Given the description of an element on the screen output the (x, y) to click on. 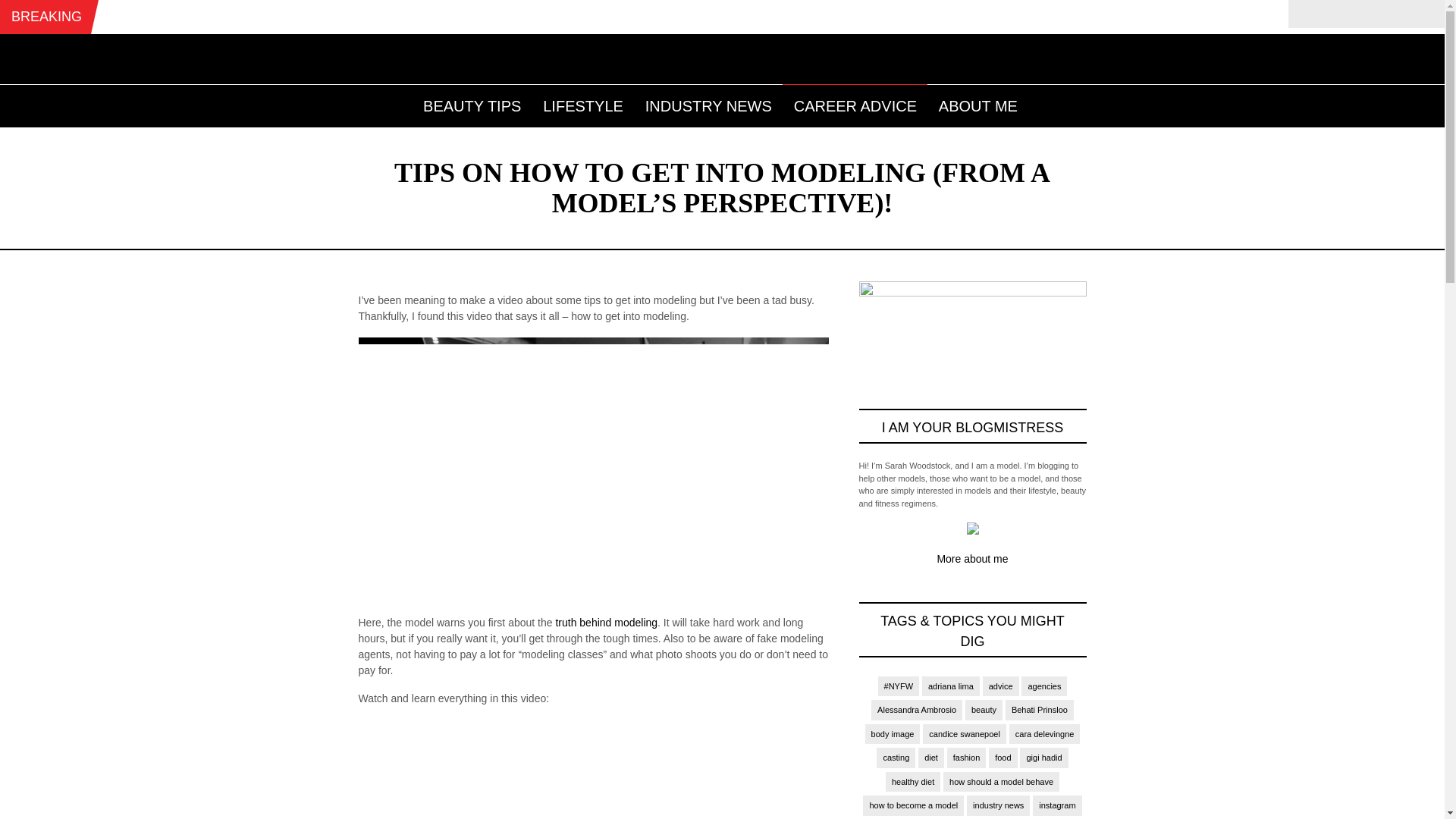
BEAUTY TIPS (472, 103)
INDUSTRY NEWS (708, 103)
ABOUT ME (978, 103)
truth behind modeling (606, 622)
Search... (1364, 13)
LIFESTYLE (582, 103)
CAREER ADVICE (855, 103)
